Given the description of an element on the screen output the (x, y) to click on. 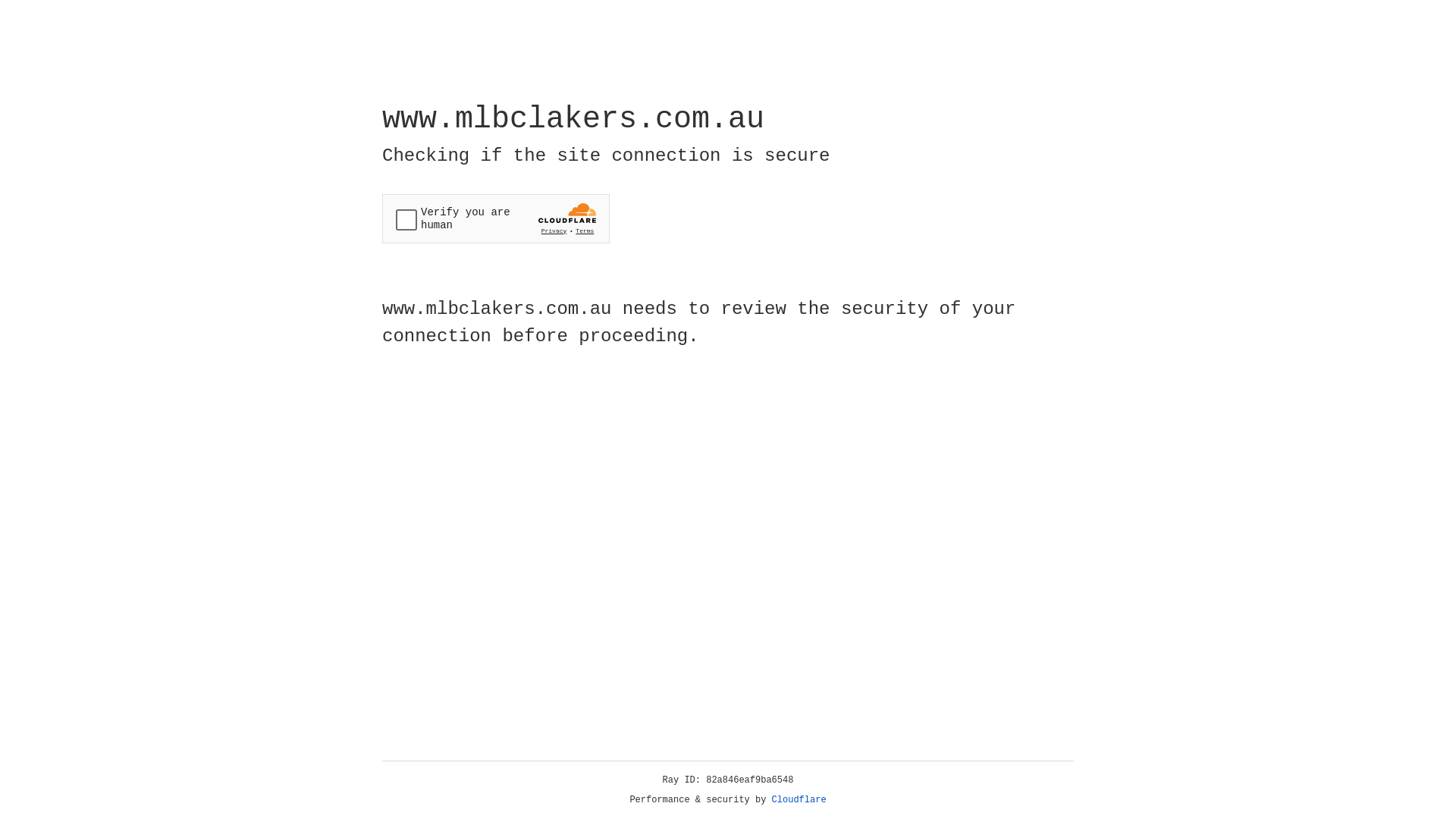
Cloudflare Element type: text (798, 799)
Widget containing a Cloudflare security challenge Element type: hover (495, 218)
